Given the description of an element on the screen output the (x, y) to click on. 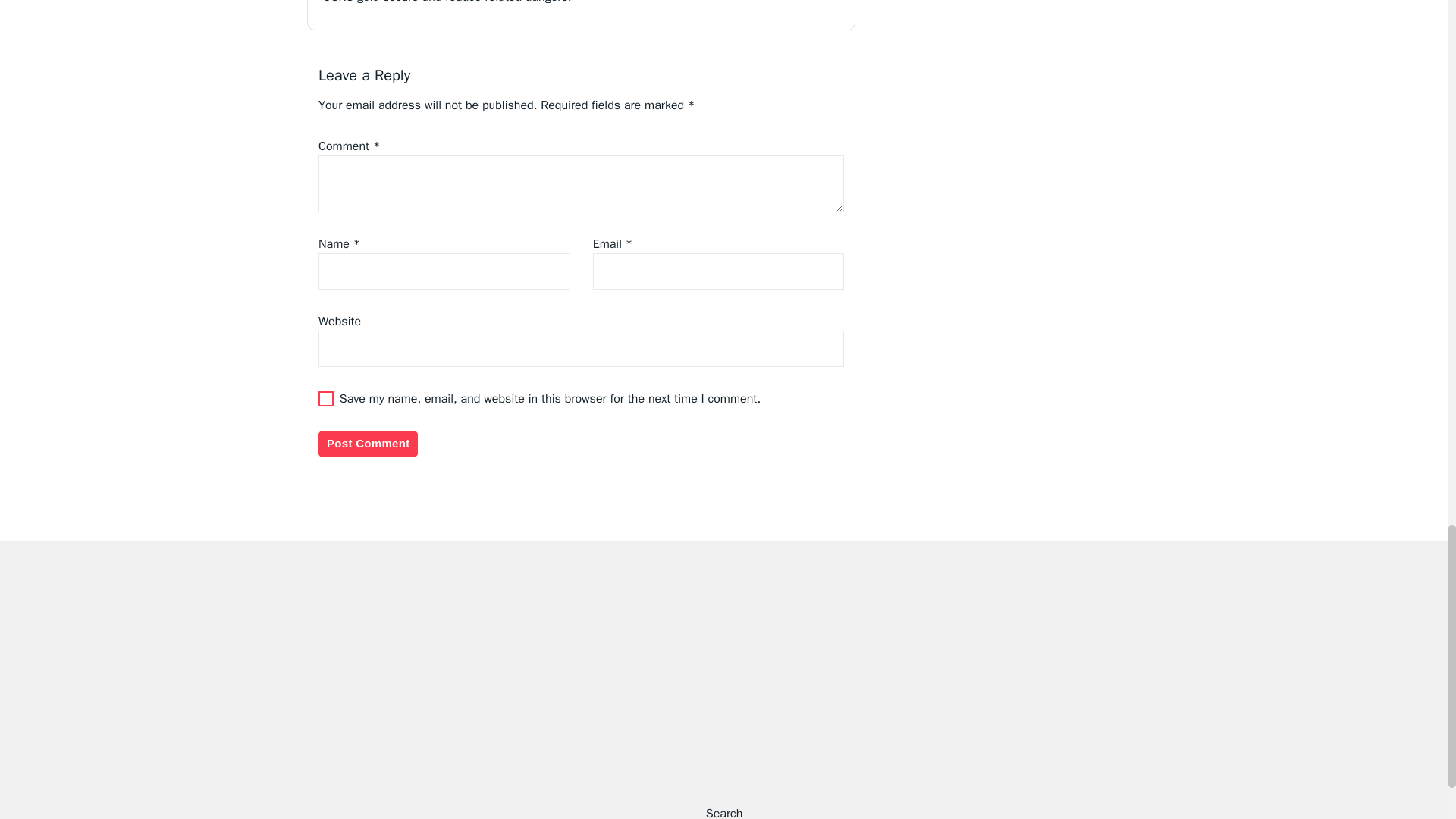
Post Comment (367, 443)
yes (325, 398)
